Given the description of an element on the screen output the (x, y) to click on. 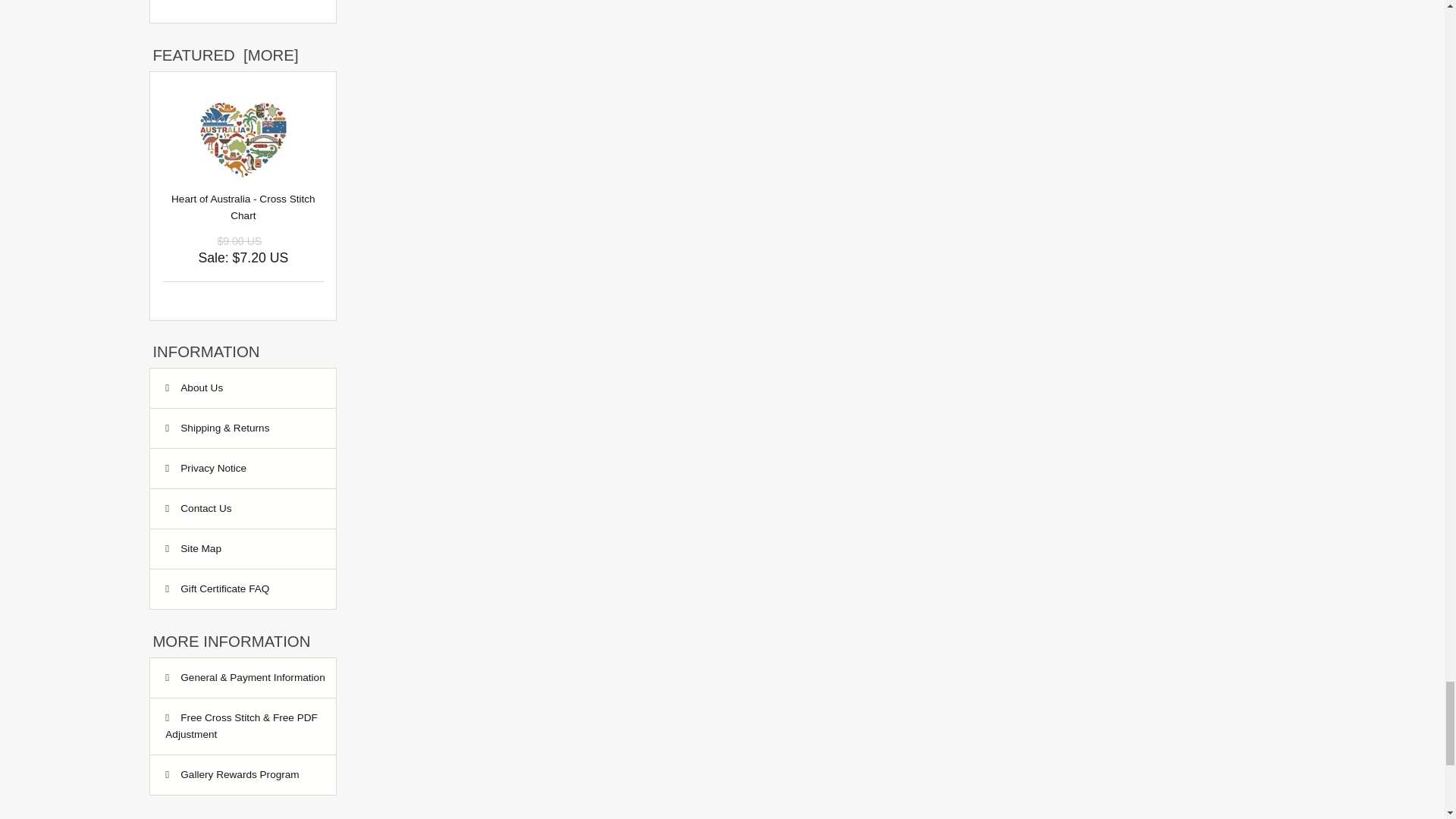
Heart of Australia - Cross Stitch Chart (243, 140)
